Given the description of an element on the screen output the (x, y) to click on. 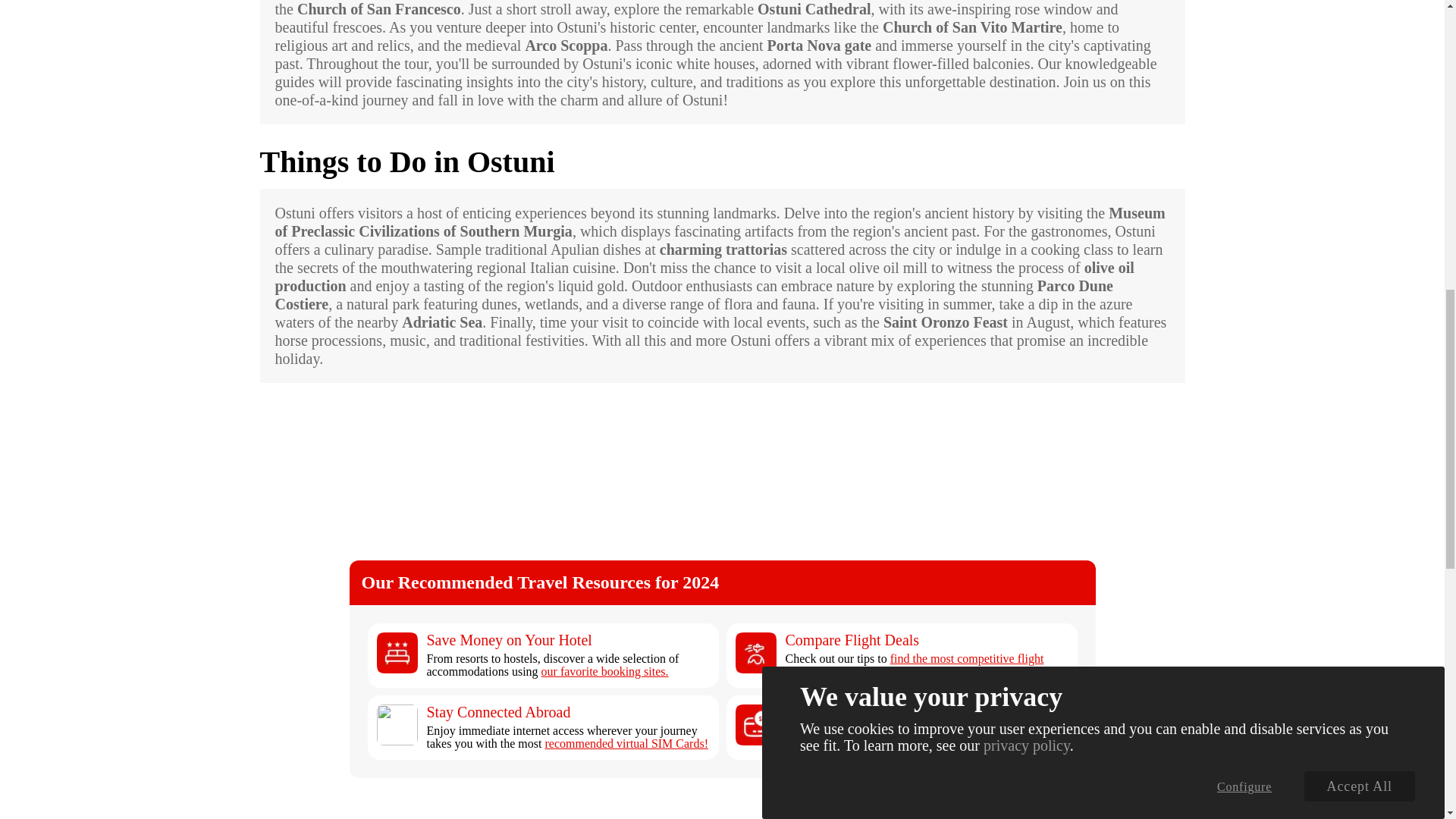
find the most competitive flight prices (914, 664)
recommended virtual SIM Cards! (625, 743)
our top-rated international cards (912, 730)
our favorite booking sites. (604, 671)
